Given the description of an element on the screen output the (x, y) to click on. 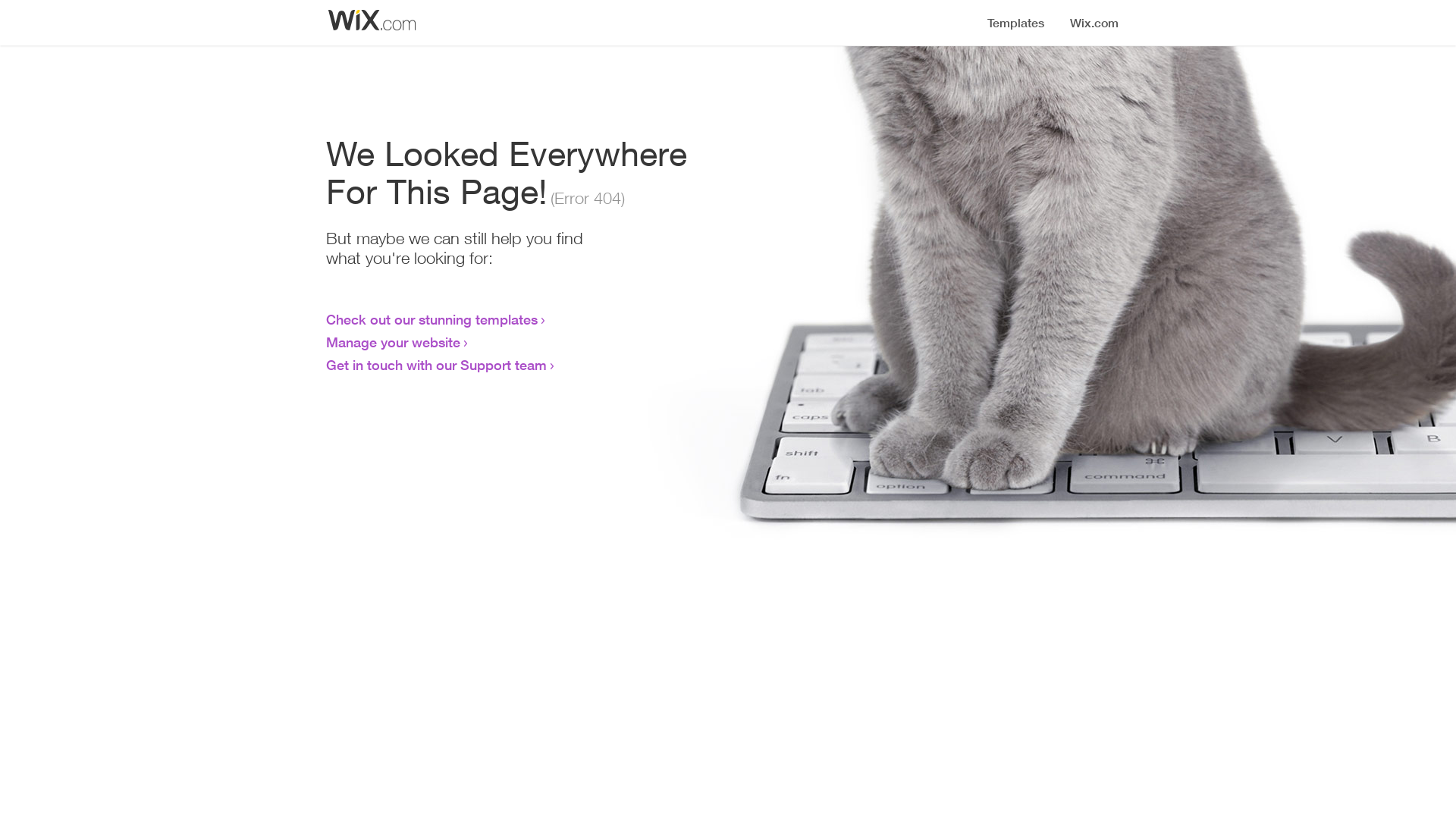
Manage your website Element type: text (393, 341)
Get in touch with our Support team Element type: text (436, 364)
Check out our stunning templates Element type: text (431, 318)
